Given the description of an element on the screen output the (x, y) to click on. 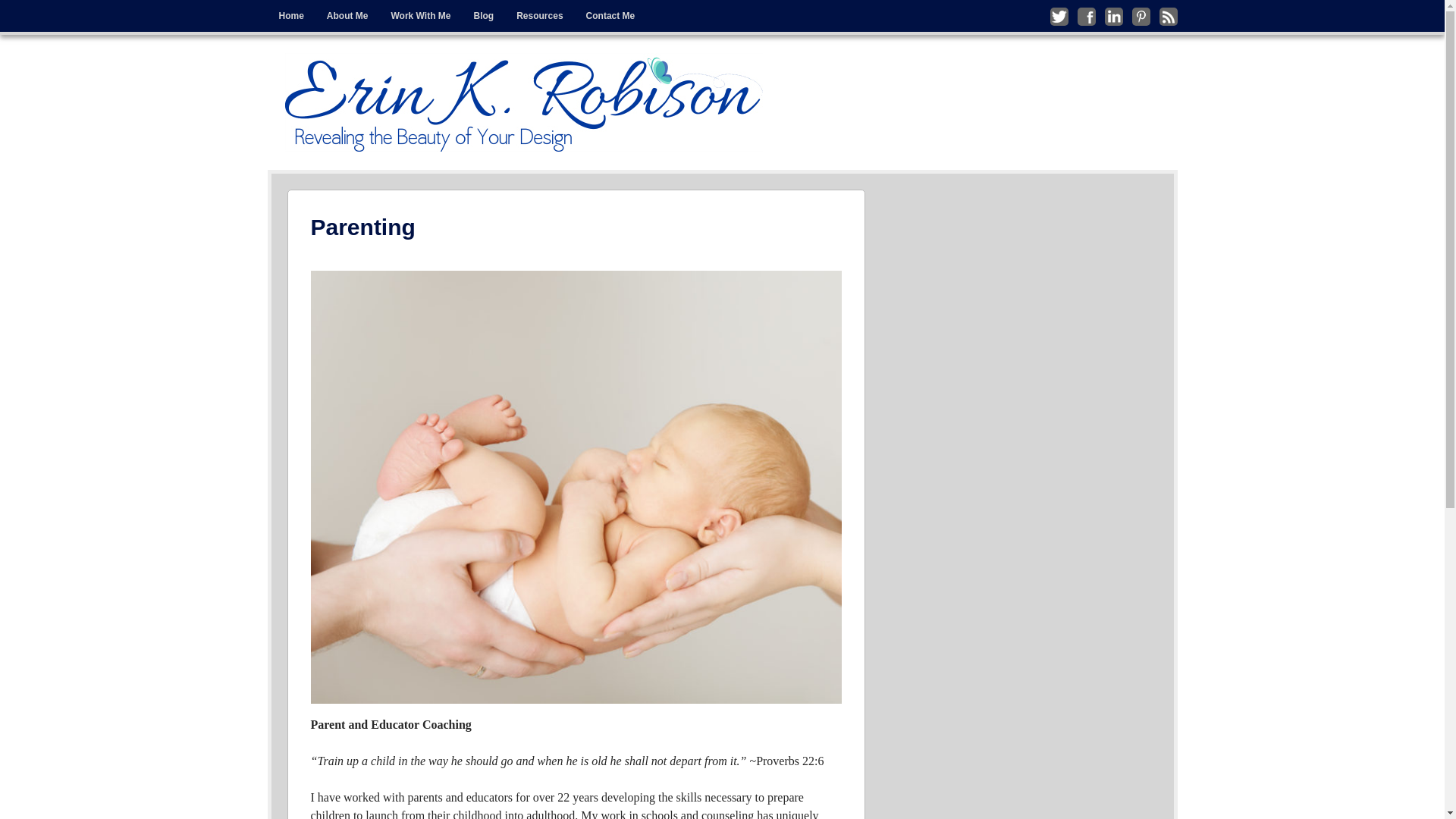
Resources (539, 15)
Erin K. Robison (523, 102)
Follow me on Twitter (1058, 16)
Connect with me on LinkedIn (1112, 16)
Skip to content (299, 10)
Contact Me (610, 15)
About Me (347, 15)
Home (290, 15)
Skip to content (299, 10)
Work With Me (419, 15)
Erin K. Robison (376, 67)
Follow me on Pinterest (1140, 16)
Like me on Facebook (1085, 16)
Blog (484, 15)
Subscribe to my RSS Feed (1167, 16)
